Given the description of an element on the screen output the (x, y) to click on. 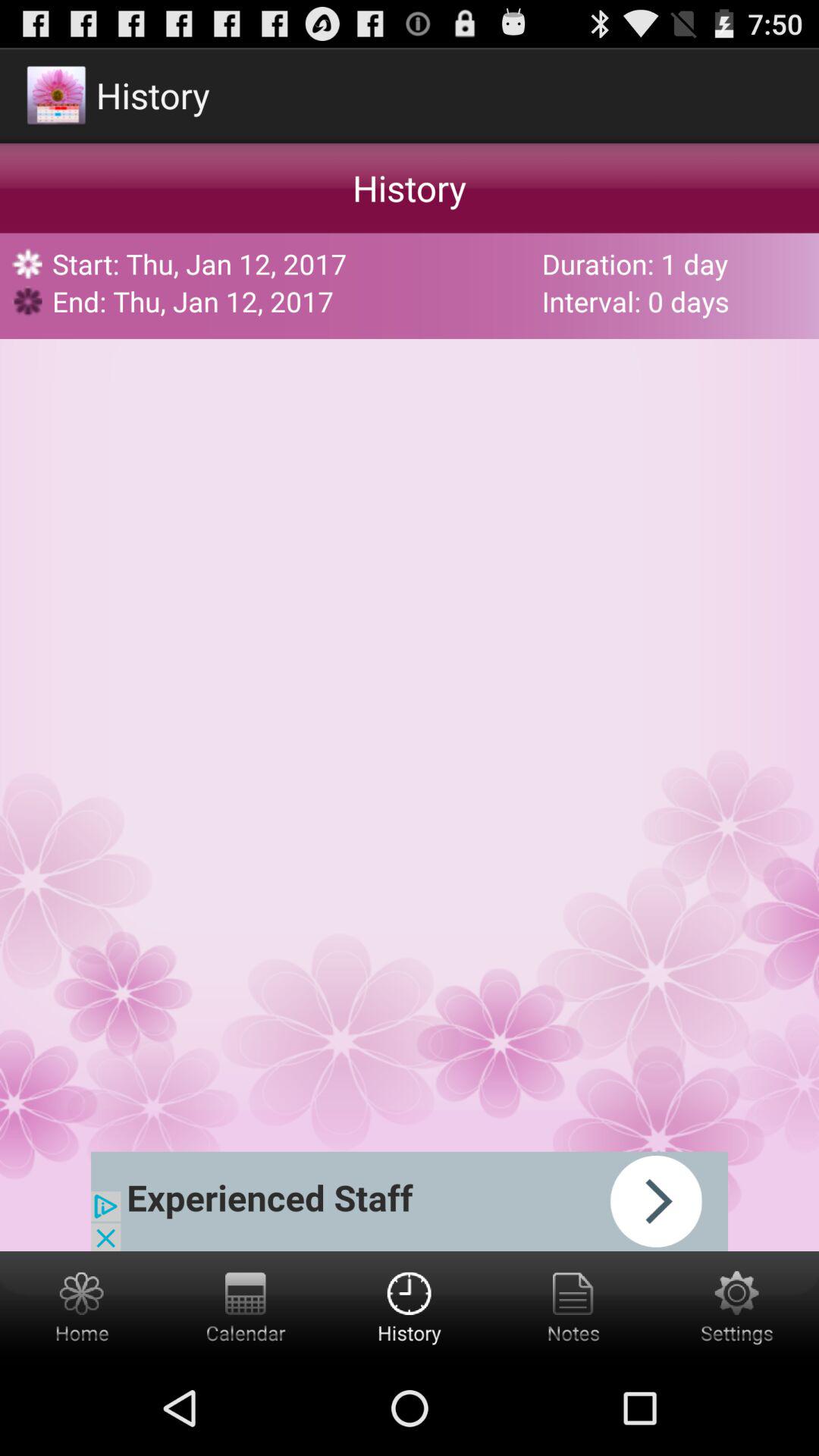
next to the bage (409, 1201)
